Given the description of an element on the screen output the (x, y) to click on. 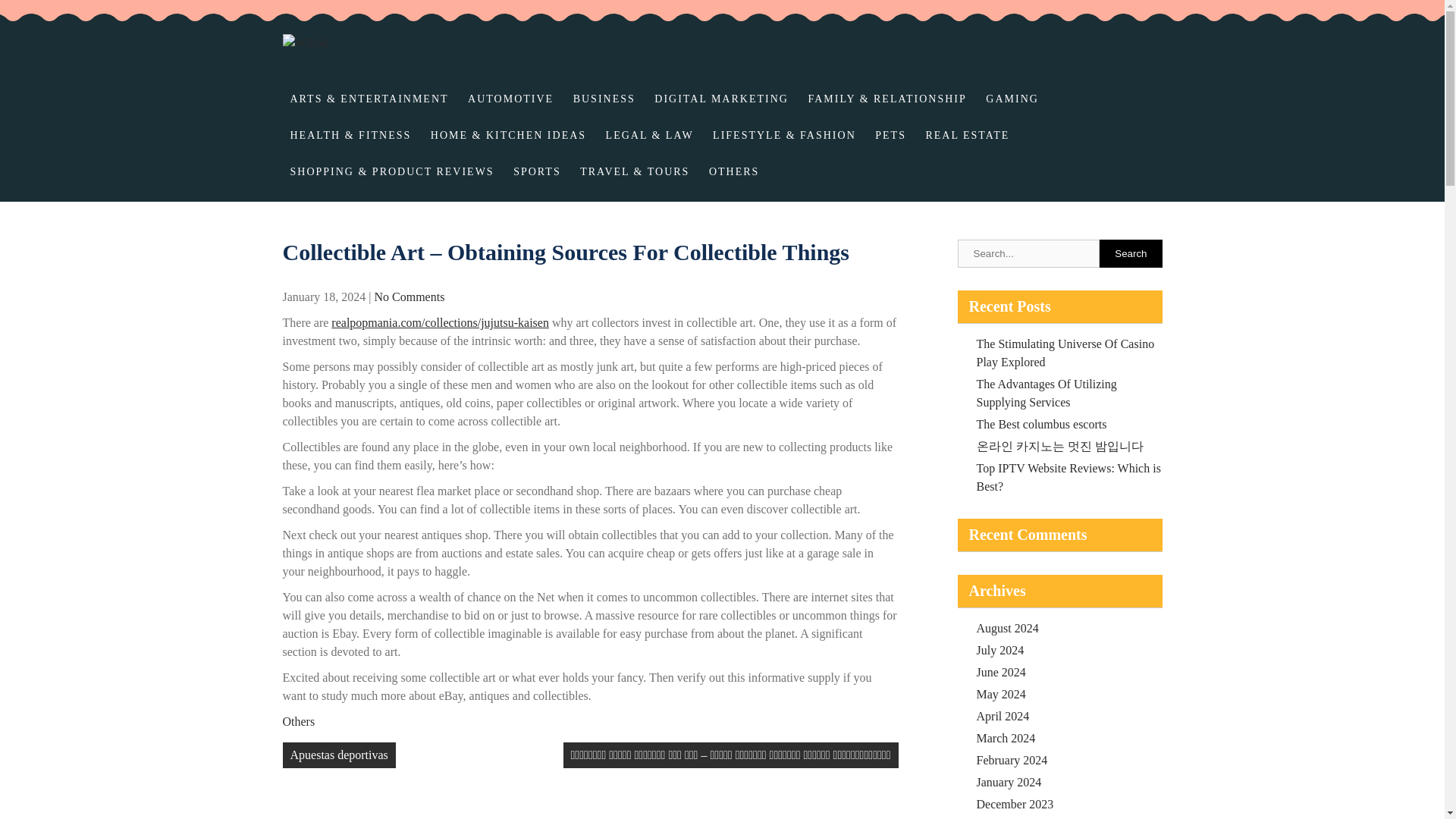
August 2024 (1007, 627)
DIGITAL MARKETING (721, 99)
PETS (890, 135)
BUSINESS (604, 99)
February 2024 (1012, 759)
March 2024 (1005, 738)
OTHERS (734, 171)
December 2023 (1015, 803)
Search (1130, 253)
The Advantages Of Utilizing Supplying Services (1046, 392)
GAMING (1012, 99)
SPORTS (537, 171)
Apuestas deportivas (338, 755)
AUTOMOTIVE (510, 99)
Top IPTV Website Reviews: Which is Best? (1068, 477)
